Given the description of an element on the screen output the (x, y) to click on. 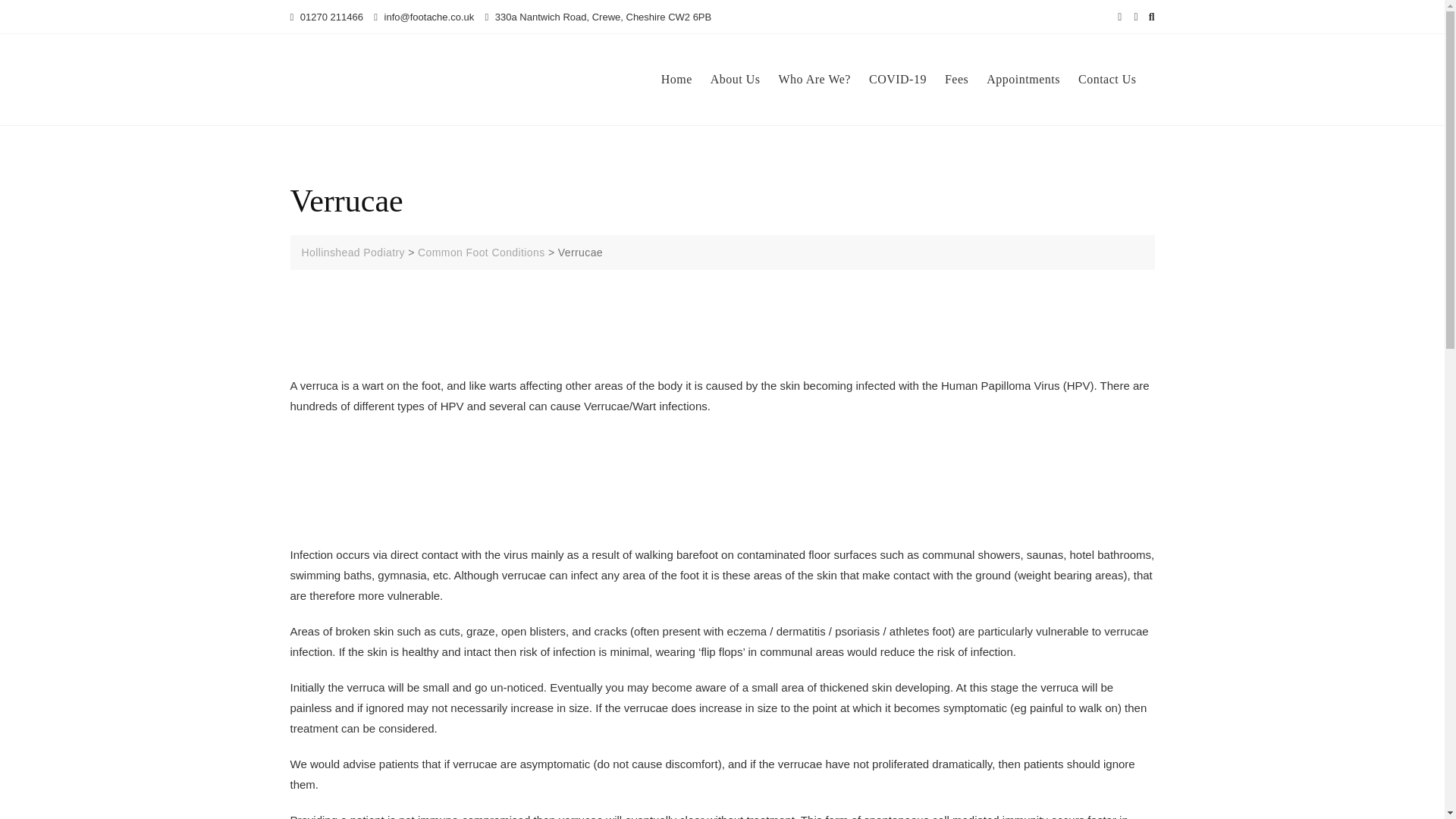
Home (685, 79)
Appointments (1032, 79)
About Us (744, 79)
Go to Hollinshead Podiatry. (352, 252)
Fees (965, 79)
01270 211466 (325, 16)
Hollinshead Podiatry (352, 252)
COVID-19 (906, 79)
Who Are We? (823, 79)
Contact Us (1116, 79)
Common Foot Conditions (480, 252)
Go to Common Foot Conditions. (480, 252)
